Given the description of an element on the screen output the (x, y) to click on. 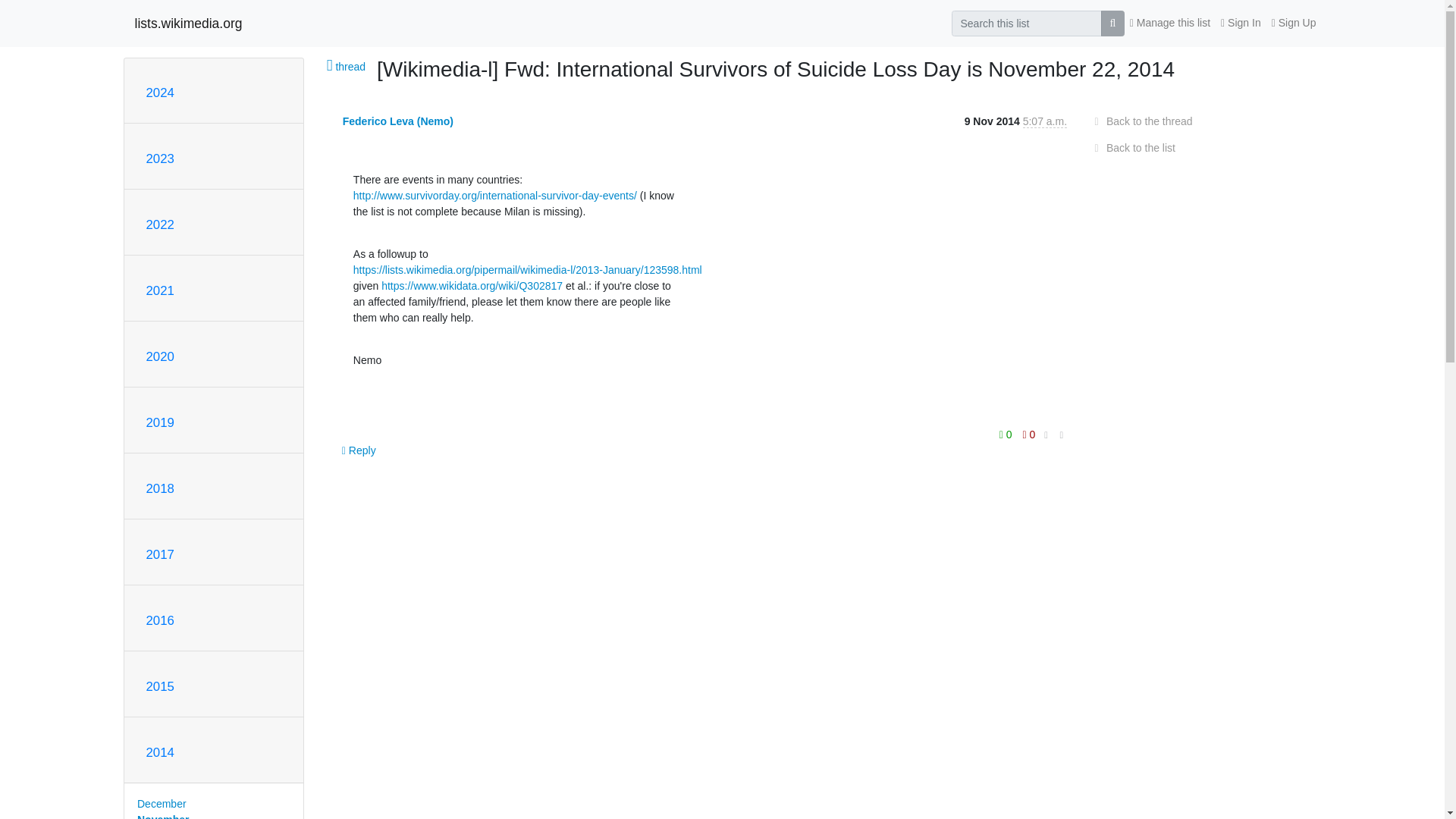
Sign In (1240, 22)
lists.wikimedia.org (189, 22)
Sign in to reply online (359, 450)
You must be logged-in to vote. (1029, 434)
You must be logged-in to vote. (1007, 434)
Manage this list (1169, 22)
Sign Up (1294, 22)
2024 (159, 92)
2022 (159, 224)
2023 (159, 158)
